Given the description of an element on the screen output the (x, y) to click on. 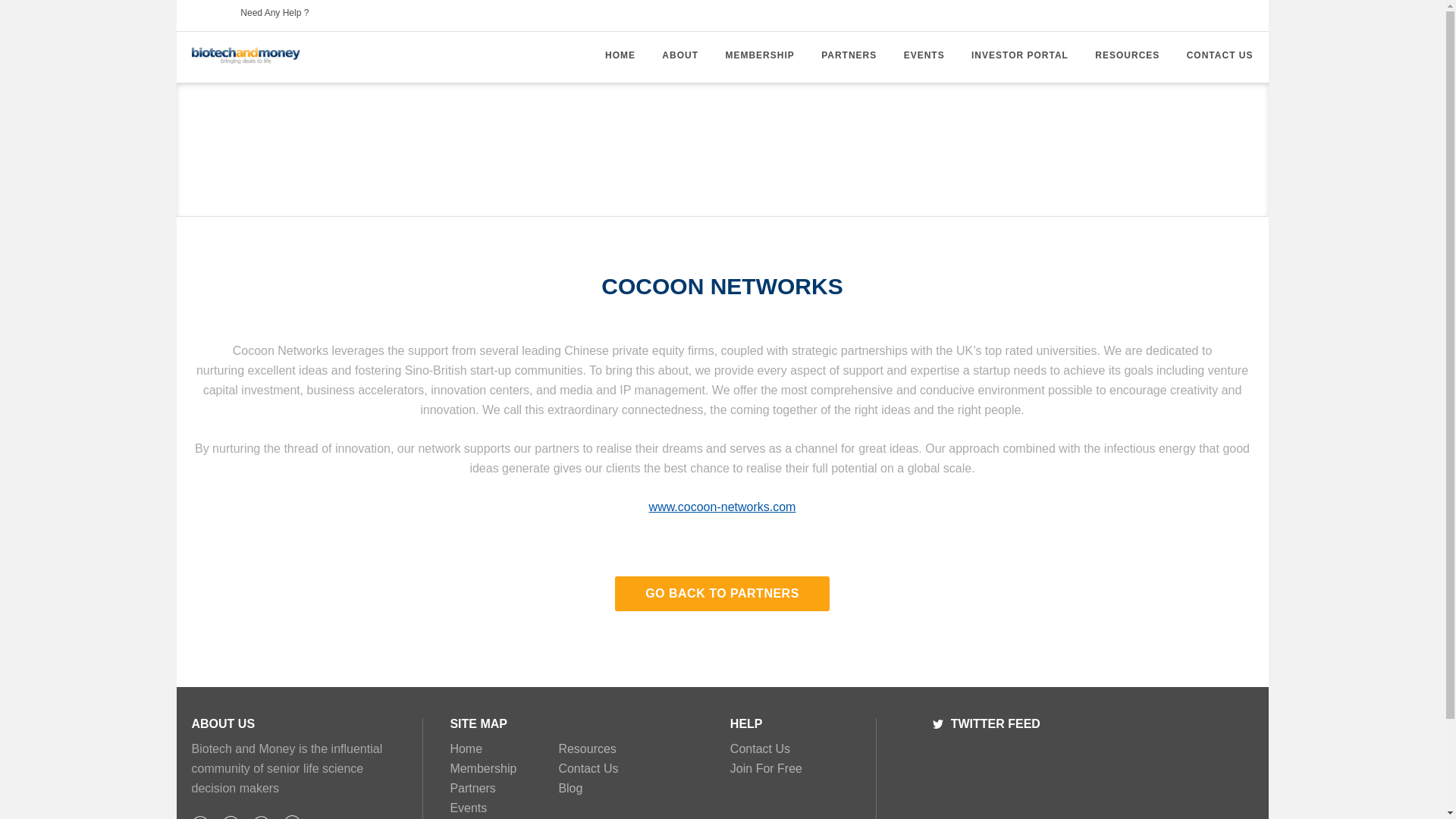
HOME (619, 54)
Twitter (938, 723)
GO BACK TO PARTNERS (721, 593)
www.cocoon-networks.com (722, 506)
biotech-logo-2.png (244, 55)
EVENTS (924, 54)
MEMBERSHIP (759, 54)
Youtube (231, 817)
Home (501, 748)
Need Any Help ? (274, 14)
Blog (292, 816)
Linkedin (260, 817)
PARTNERS (848, 54)
INVESTOR PORTAL (1019, 54)
